Given the description of an element on the screen output the (x, y) to click on. 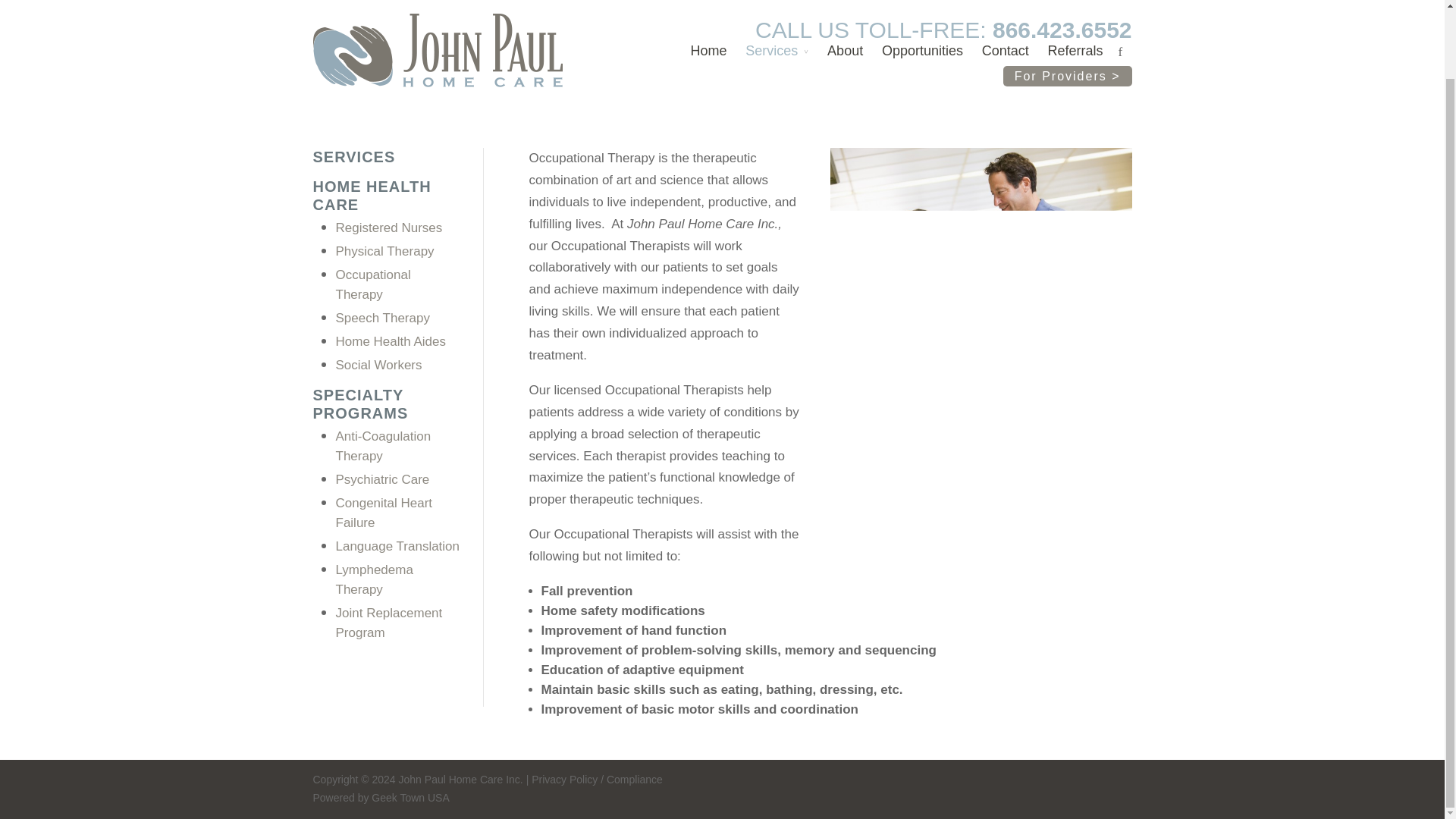
Occupational Therapy (372, 284)
Language Translation (397, 545)
Geek Town USA (409, 797)
Physical Therapy (383, 251)
Home Health Aides (389, 341)
Registered Nurses (388, 227)
Psychiatric Care (381, 479)
SPECIALTY PROGRAMS (360, 403)
Lymphedema Therapy (373, 579)
Speech Therapy (381, 318)
